Given the description of an element on the screen output the (x, y) to click on. 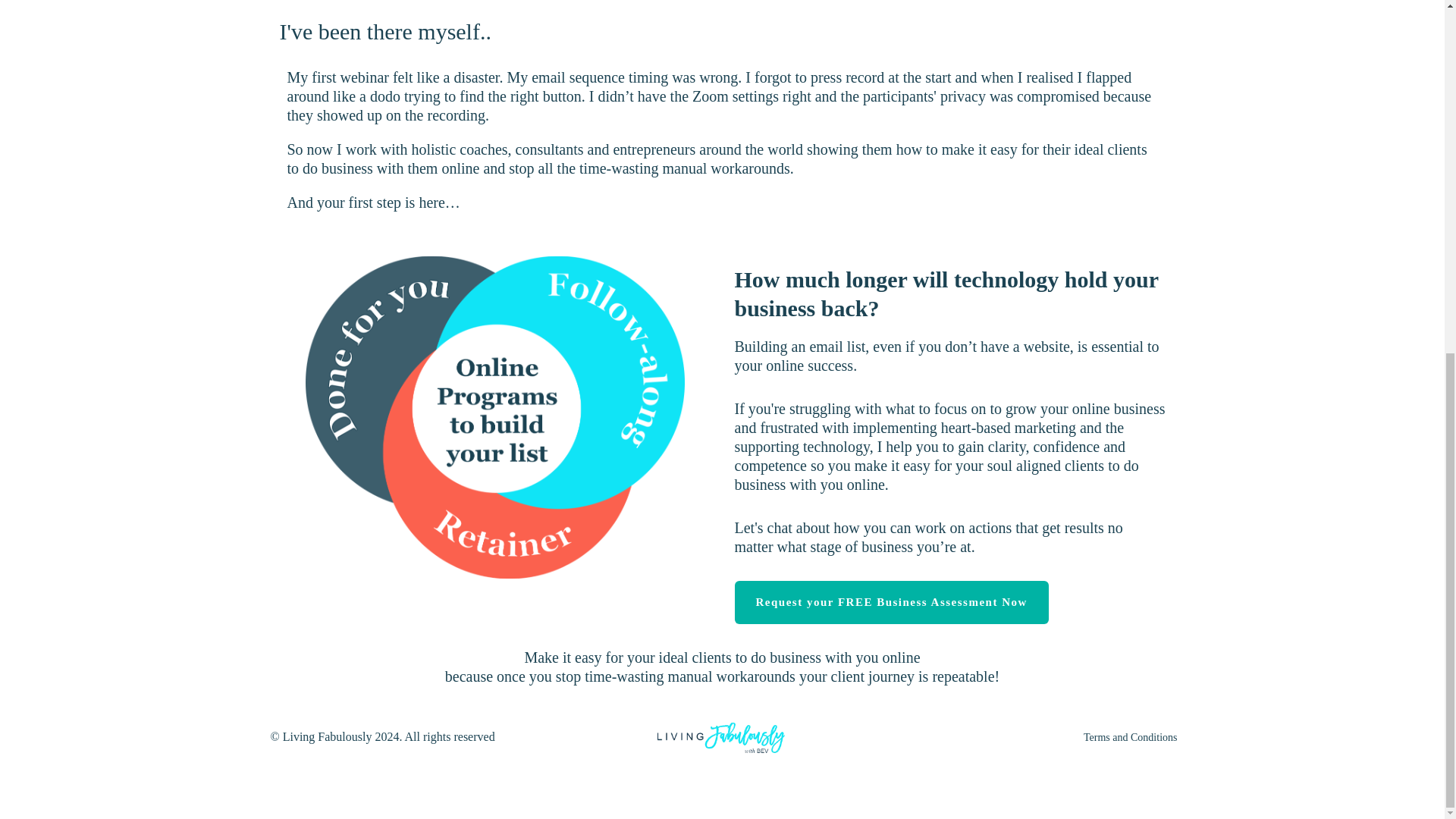
Terms and Conditions (1129, 737)
Request your FREE Business Assessment Now (890, 602)
